Given the description of an element on the screen output the (x, y) to click on. 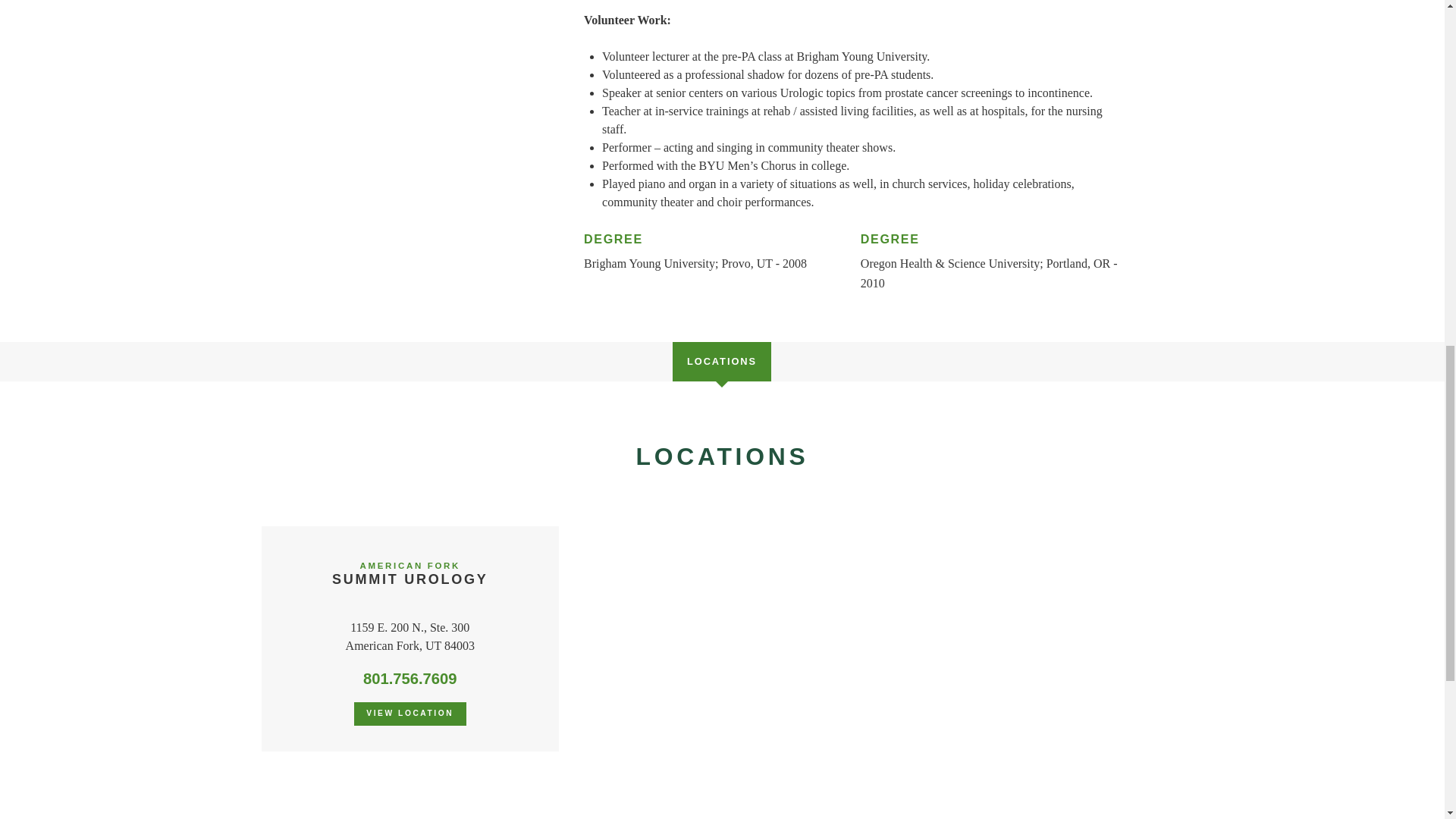
LOCATIONS (721, 361)
VIEW LOCATION (409, 574)
801.756.7609 (409, 713)
